Given the description of an element on the screen output the (x, y) to click on. 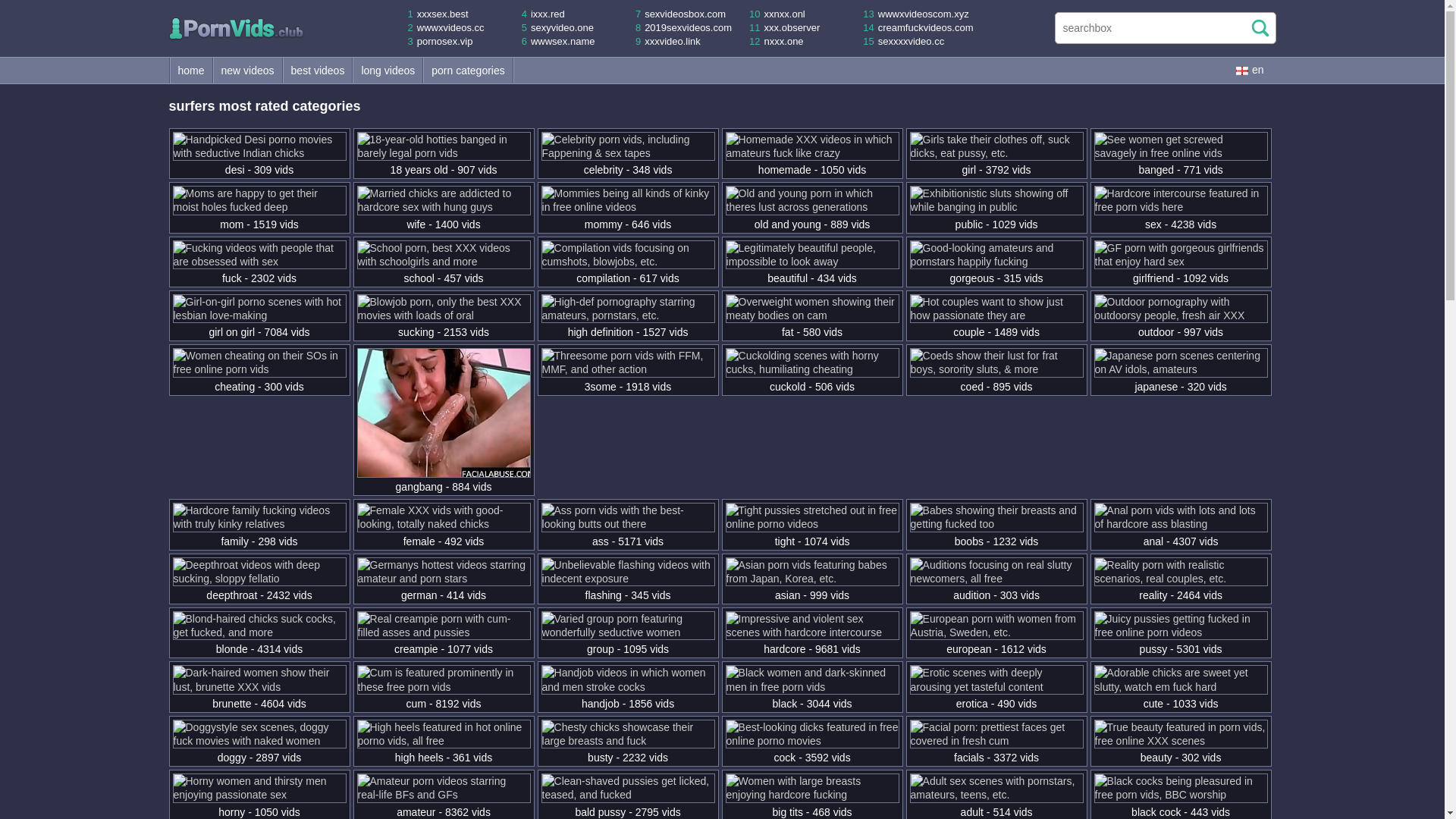
10xxnxx.onl (777, 13)
82019sexvideos.com (683, 27)
School porn, best XXX videos with schoolgirls and more (443, 260)
porn categories (468, 70)
3pornosex.vip (440, 41)
5sexyvideo.one (557, 27)
Girl-on-girl porno scenes with hot lesbian love-making (259, 315)
home (191, 70)
Compilation vids focusing on cumshots, blowjobs, etc. (627, 260)
1xxxsex.best (437, 13)
